Given the description of an element on the screen output the (x, y) to click on. 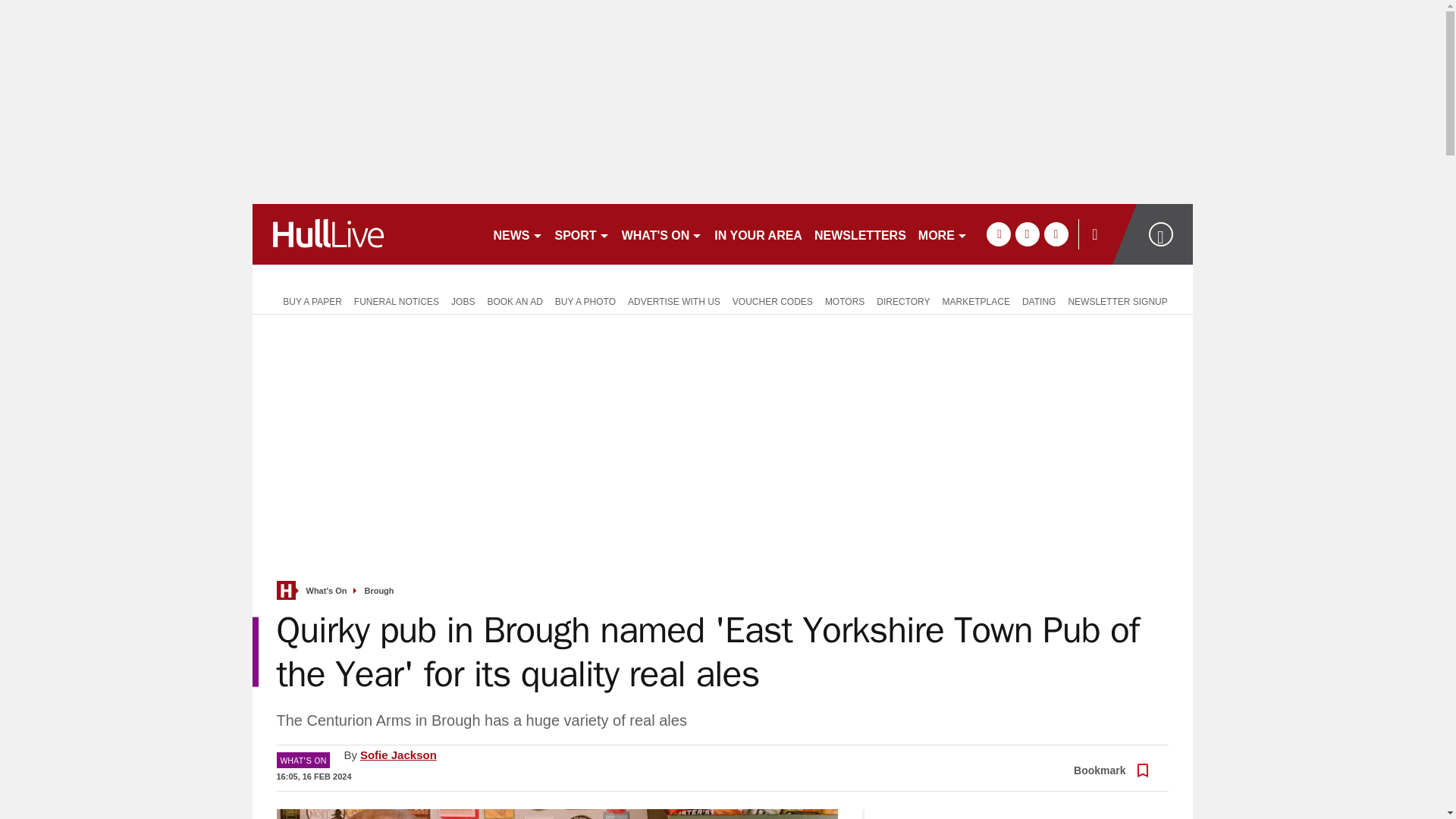
facebook (997, 233)
NEWSLETTERS (860, 233)
instagram (1055, 233)
hulldailymail (365, 233)
WHAT'S ON (662, 233)
twitter (1026, 233)
IN YOUR AREA (757, 233)
SPORT (581, 233)
Twitter (1104, 758)
NEWS (517, 233)
